Given the description of an element on the screen output the (x, y) to click on. 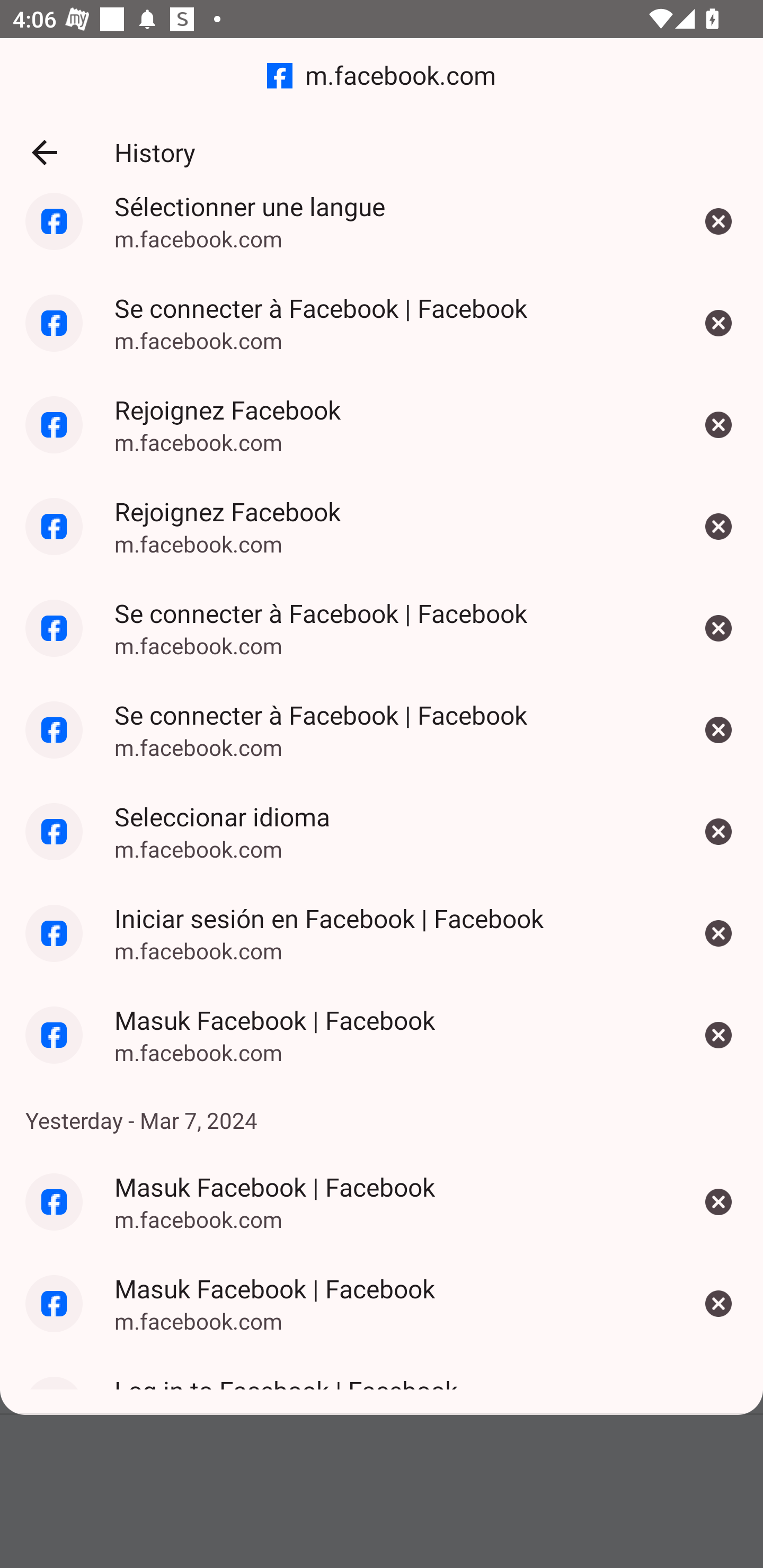
m.facebook.com (381, 75)
Back (44, 152)
Sélectionner une langue Remove (718, 231)
Se connecter à Facebook | Facebook Remove (718, 323)
Rejoignez Facebook Remove (718, 424)
Rejoignez Facebook Remove (718, 526)
Se connecter à Facebook | Facebook Remove (718, 627)
Se connecter à Facebook | Facebook Remove (718, 729)
Seleccionar idioma Remove (718, 831)
Iniciar sesión en Facebook | Facebook Remove (718, 933)
Masuk Facebook | Facebook Remove (718, 1035)
Masuk Facebook | Facebook Remove (718, 1201)
Masuk Facebook | Facebook Remove (718, 1303)
